Given the description of an element on the screen output the (x, y) to click on. 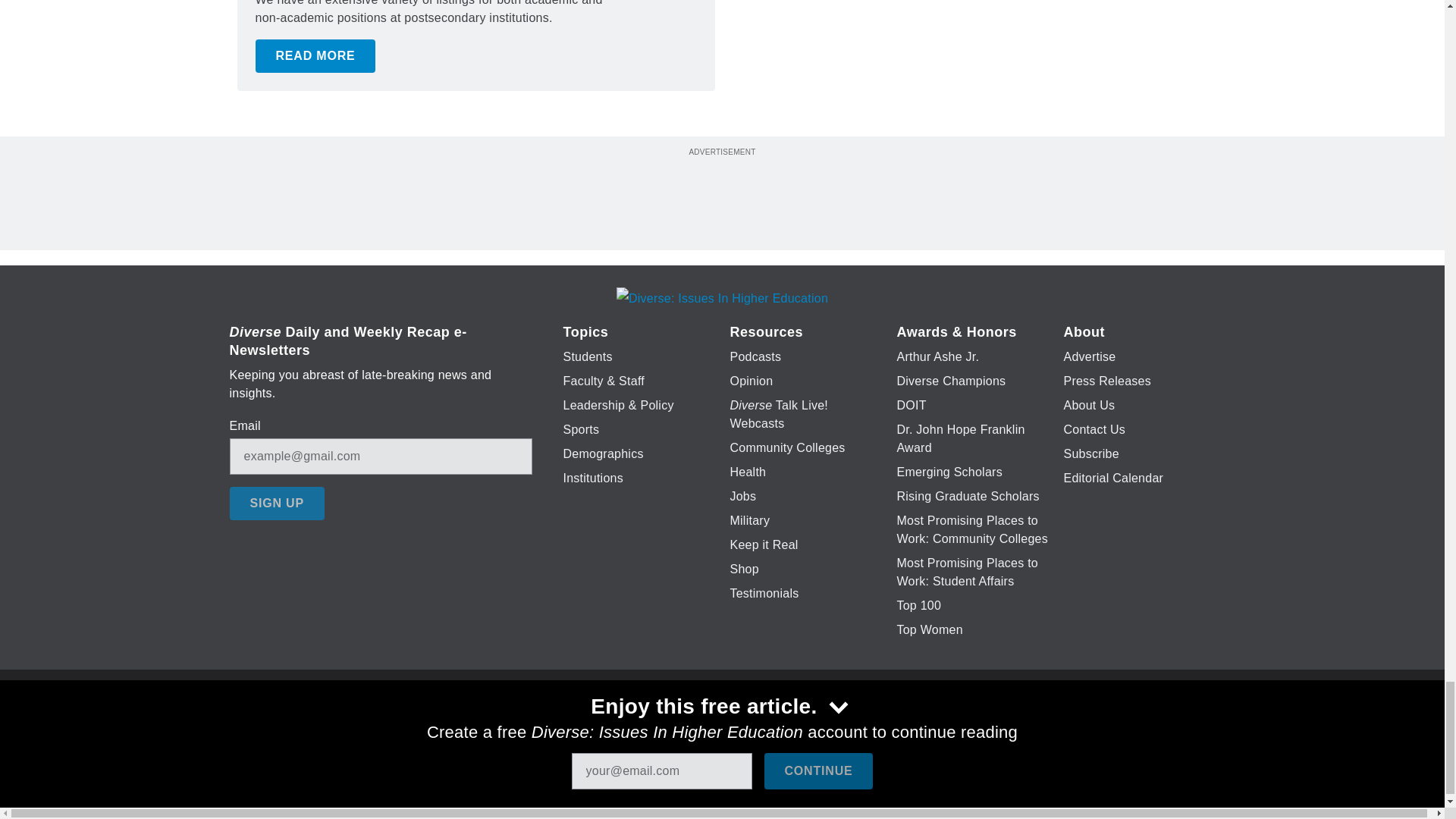
YouTube icon (757, 727)
Facebook icon (635, 727)
LinkedIn icon (718, 727)
Instagram icon (796, 727)
Twitter X icon (674, 727)
